Given the description of an element on the screen output the (x, y) to click on. 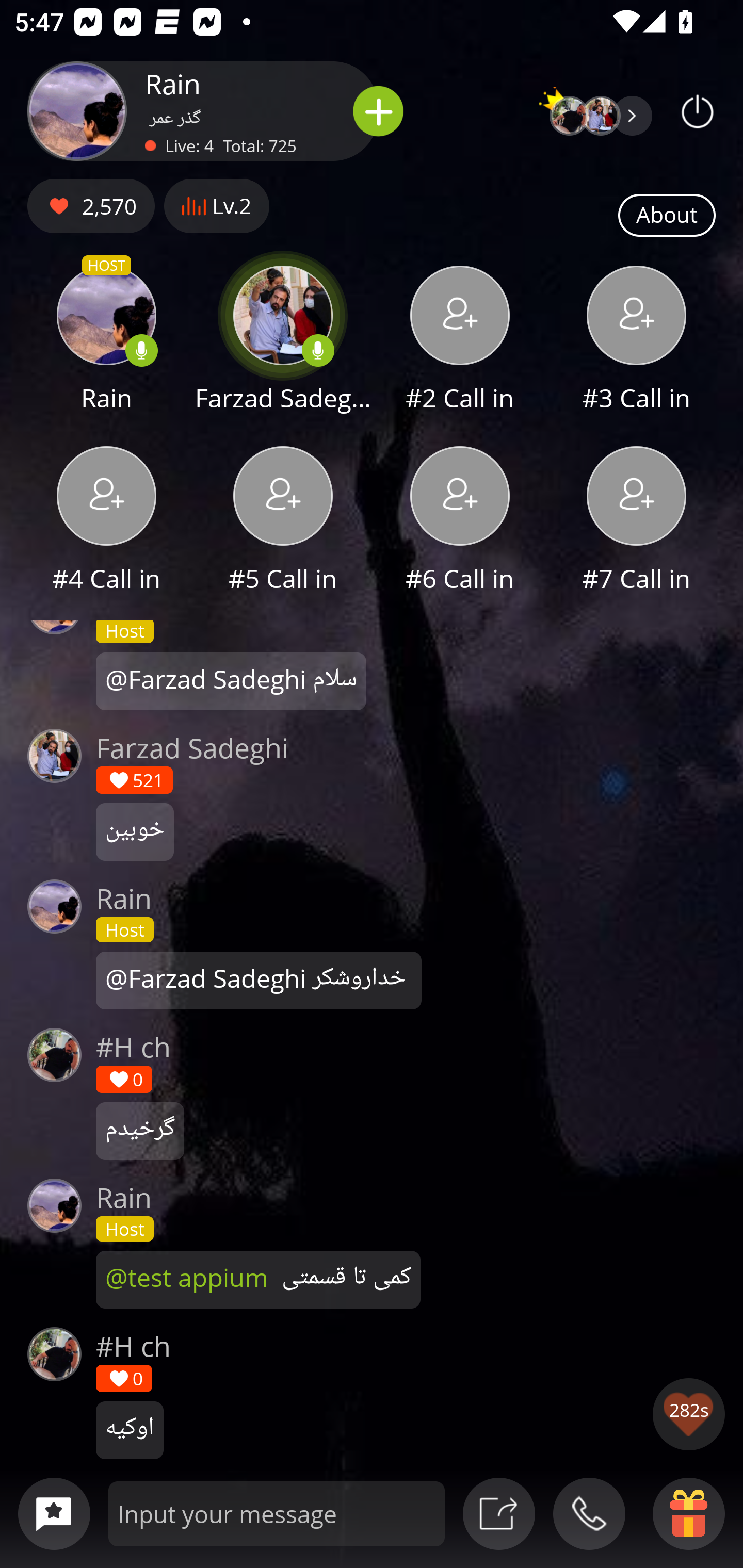
Podbean (697, 111)
About (666, 215)
HOST Rain (105, 340)
Farzad Sadeghi (282, 340)
#2 Call in (459, 340)
#3 Call in (636, 340)
#4 Call in (105, 521)
#5 Call in (282, 521)
#6 Call in (459, 521)
#7 Call in (636, 521)
Input your message (276, 1513)
